Given the description of an element on the screen output the (x, y) to click on. 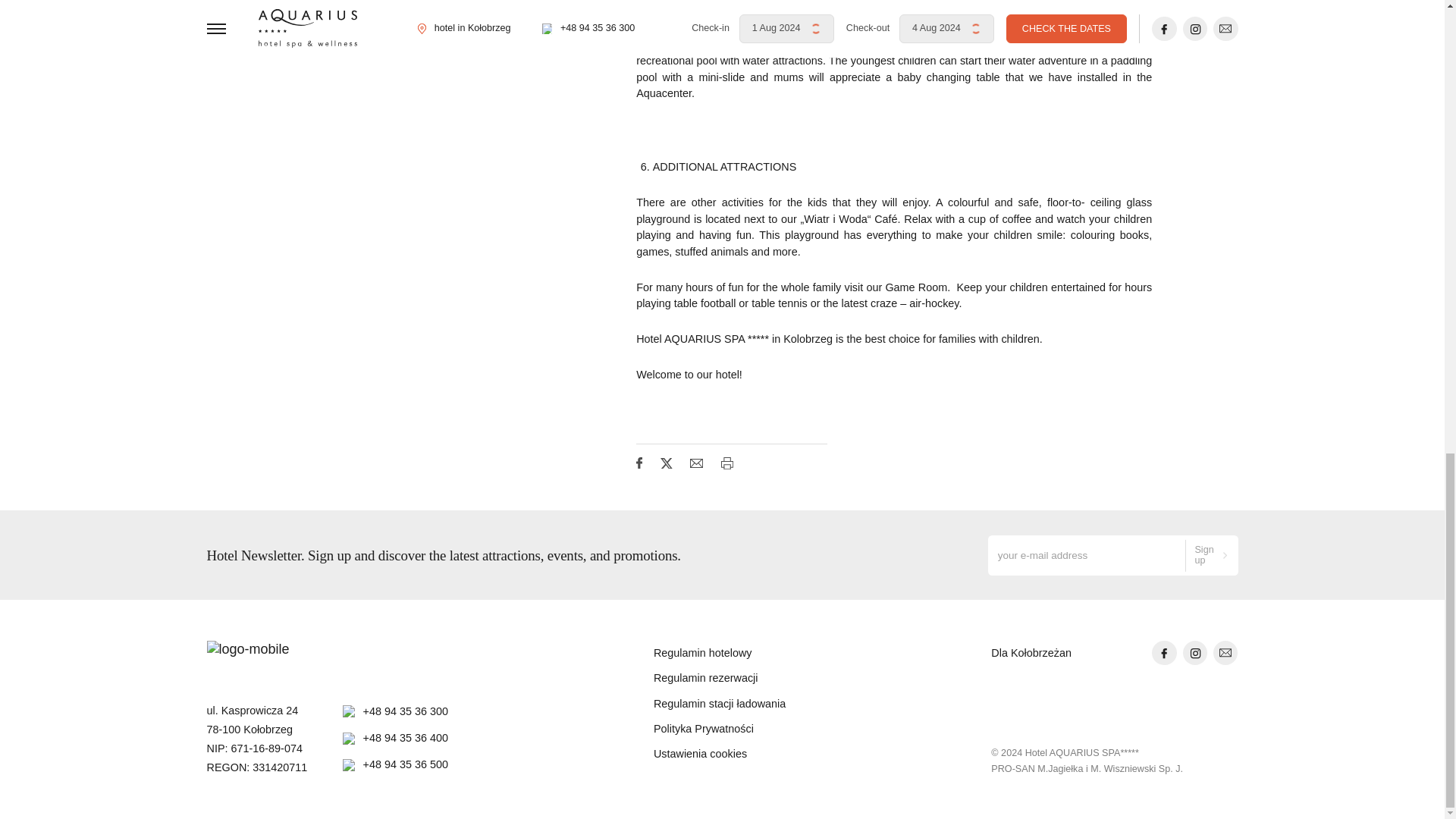
Ustawienia cookies (719, 753)
Regulamin rezerwacji (719, 677)
Regulamin hotelowy (719, 653)
Regulamin hotelowy (719, 653)
Regulamin rezerwacji (719, 677)
Sign up (1212, 555)
